Given the description of an element on the screen output the (x, y) to click on. 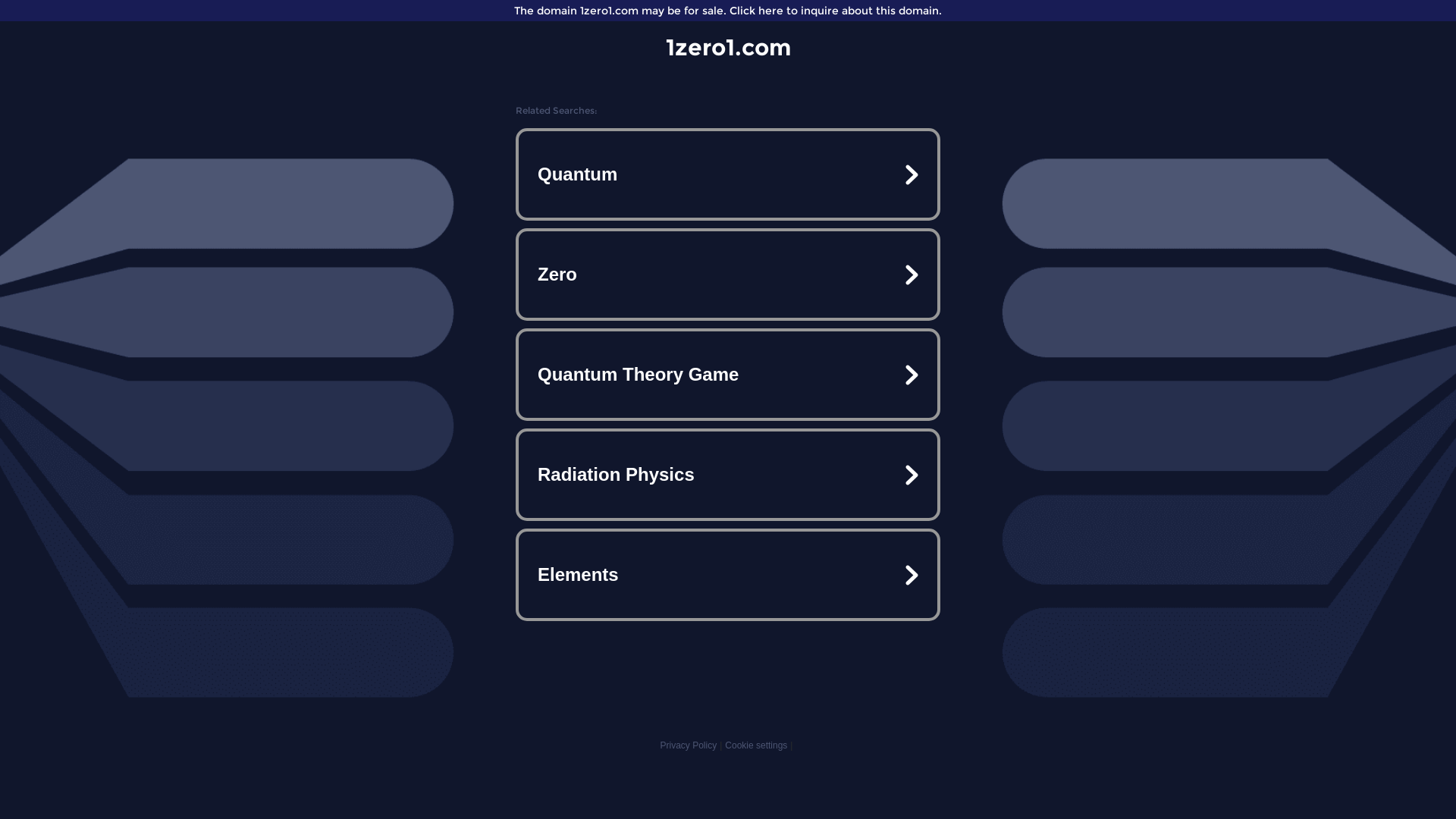
1zero1.com Element type: text (727, 47)
Zero Element type: text (727, 274)
Radiation Physics Element type: text (727, 474)
Quantum Theory Game Element type: text (727, 374)
Quantum Element type: text (727, 174)
Elements Element type: text (727, 574)
Privacy Policy Element type: text (687, 745)
Cookie settings Element type: text (755, 745)
